Given the description of an element on the screen output the (x, y) to click on. 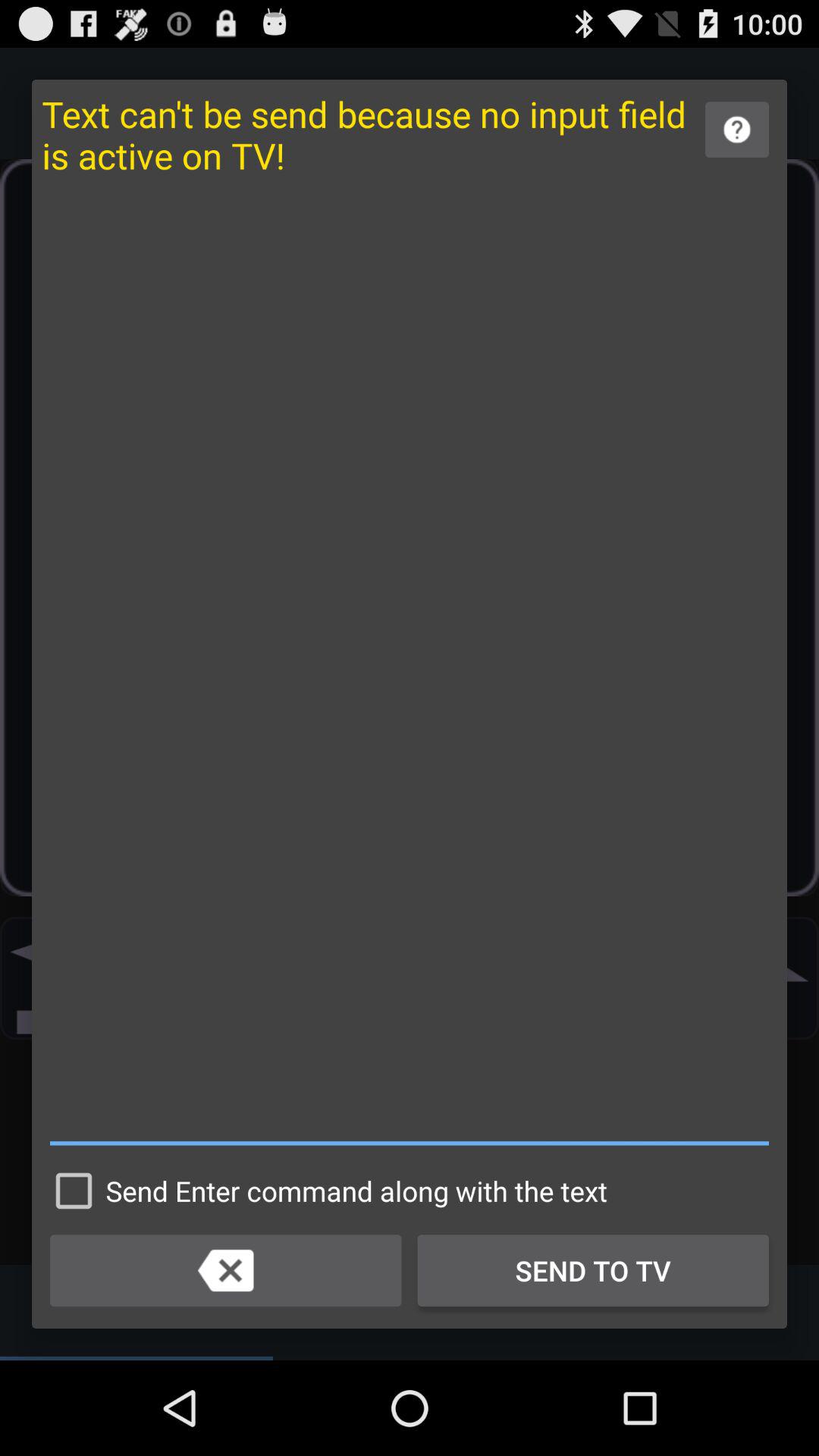
backspace (225, 1270)
